Given the description of an element on the screen output the (x, y) to click on. 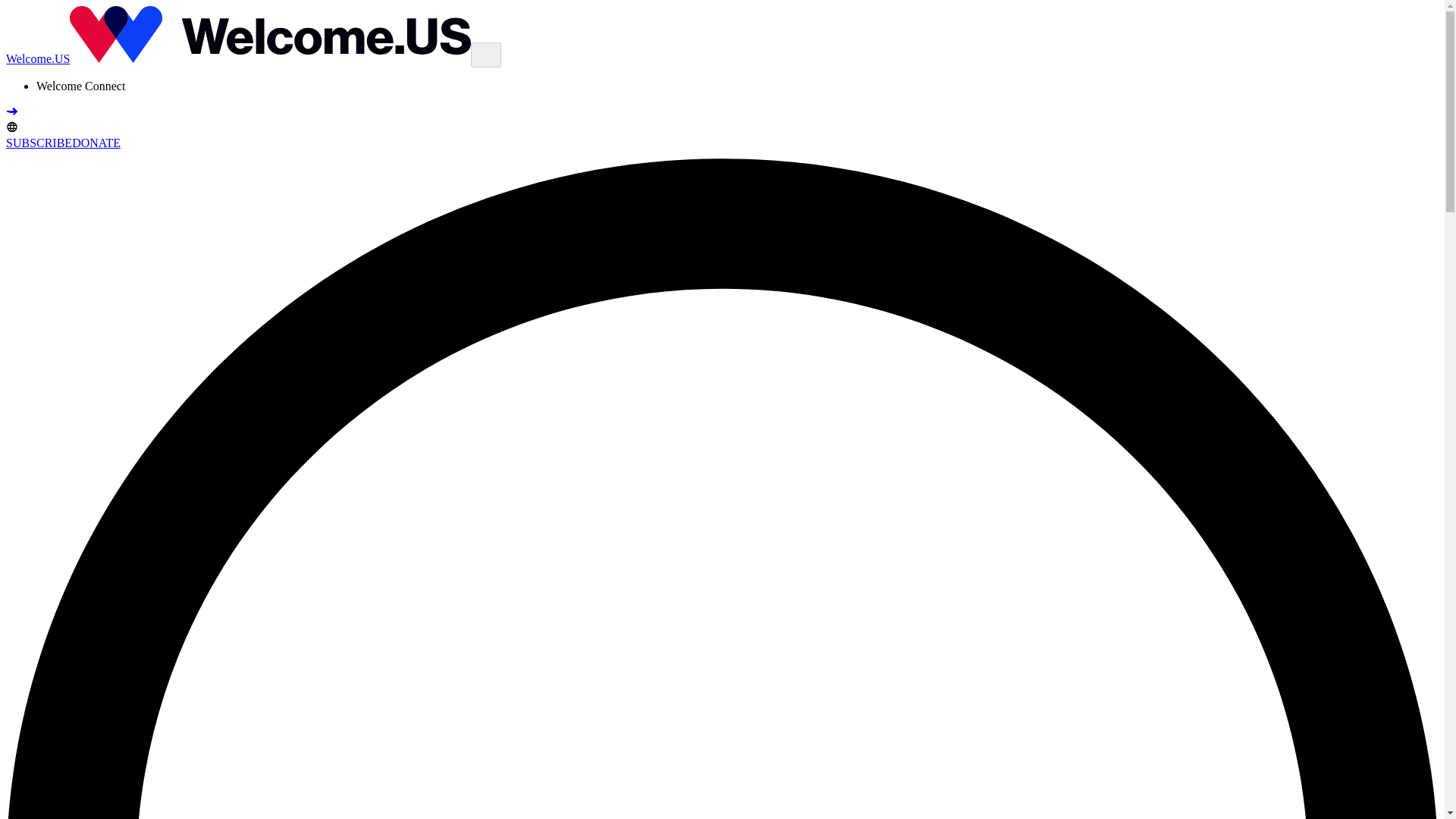
DONATE (95, 142)
SUBSCRIBE (38, 142)
Welcome.US (237, 58)
